Given the description of an element on the screen output the (x, y) to click on. 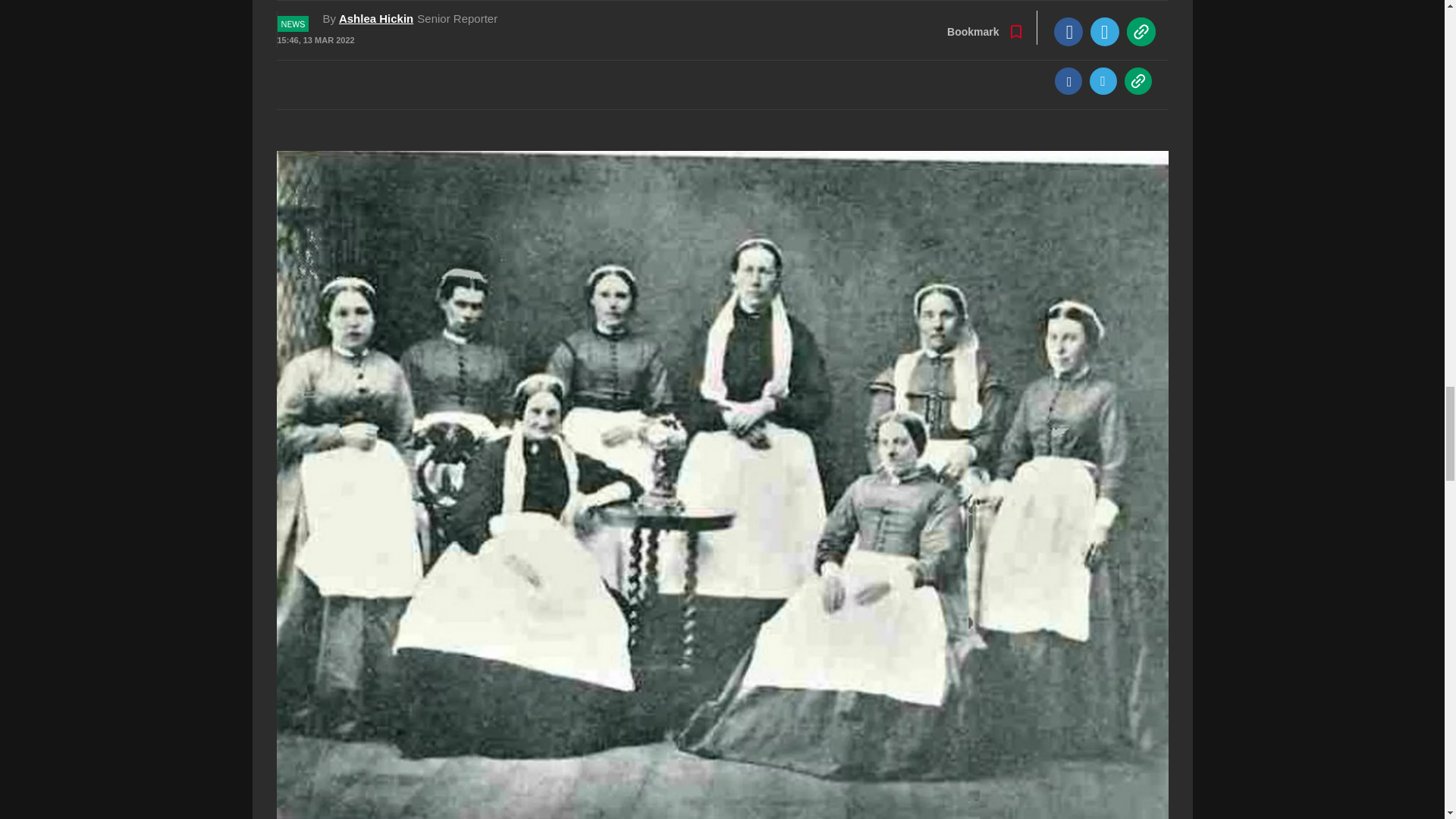
Facebook (1067, 81)
Twitter (1102, 81)
